Given the description of an element on the screen output the (x, y) to click on. 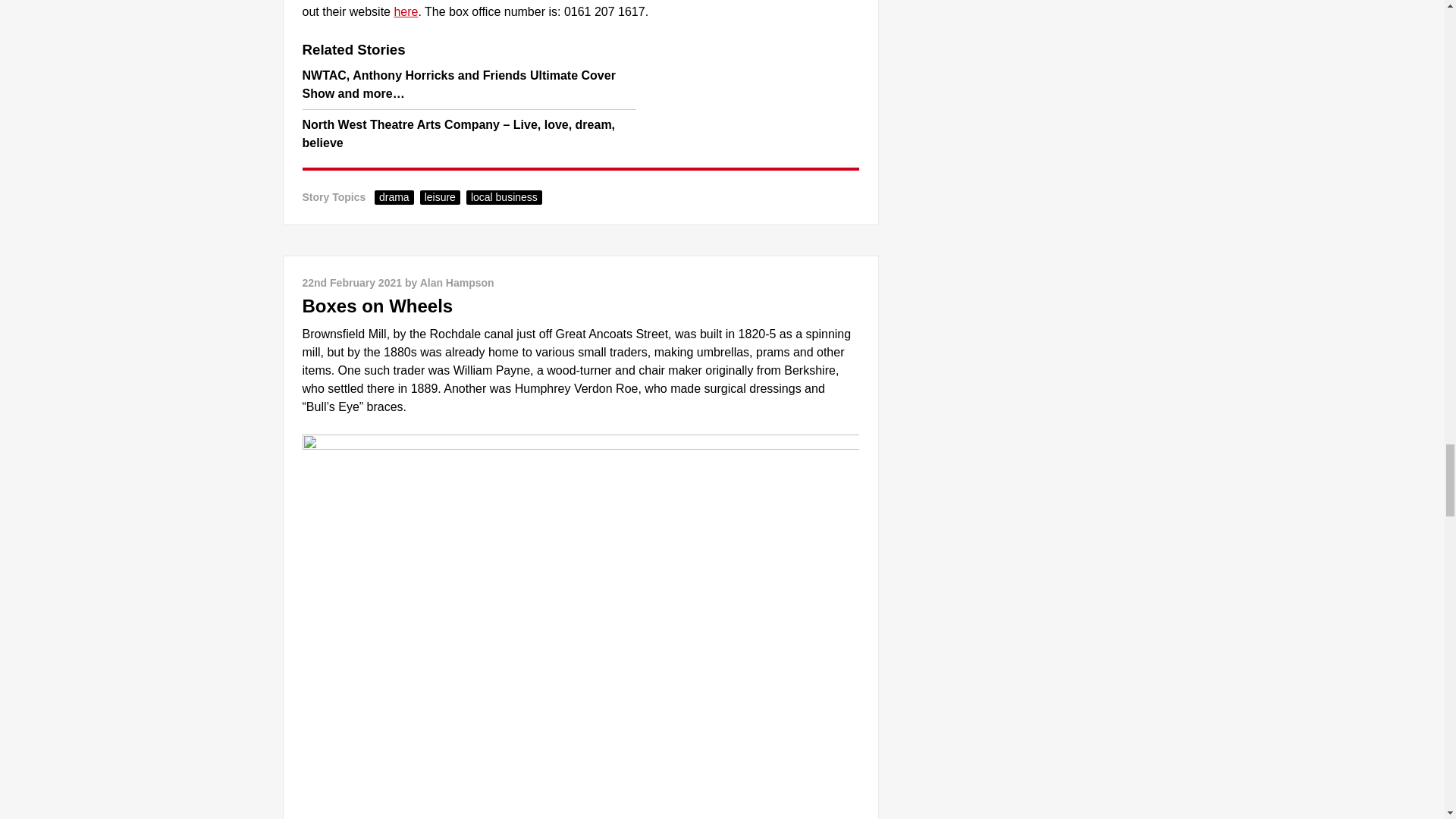
22nd February 2021 (351, 282)
Boxes on Wheels (376, 305)
local business (503, 197)
drama (393, 197)
Alan Hampson (457, 282)
here (405, 11)
leisure (440, 197)
